Given the description of an element on the screen output the (x, y) to click on. 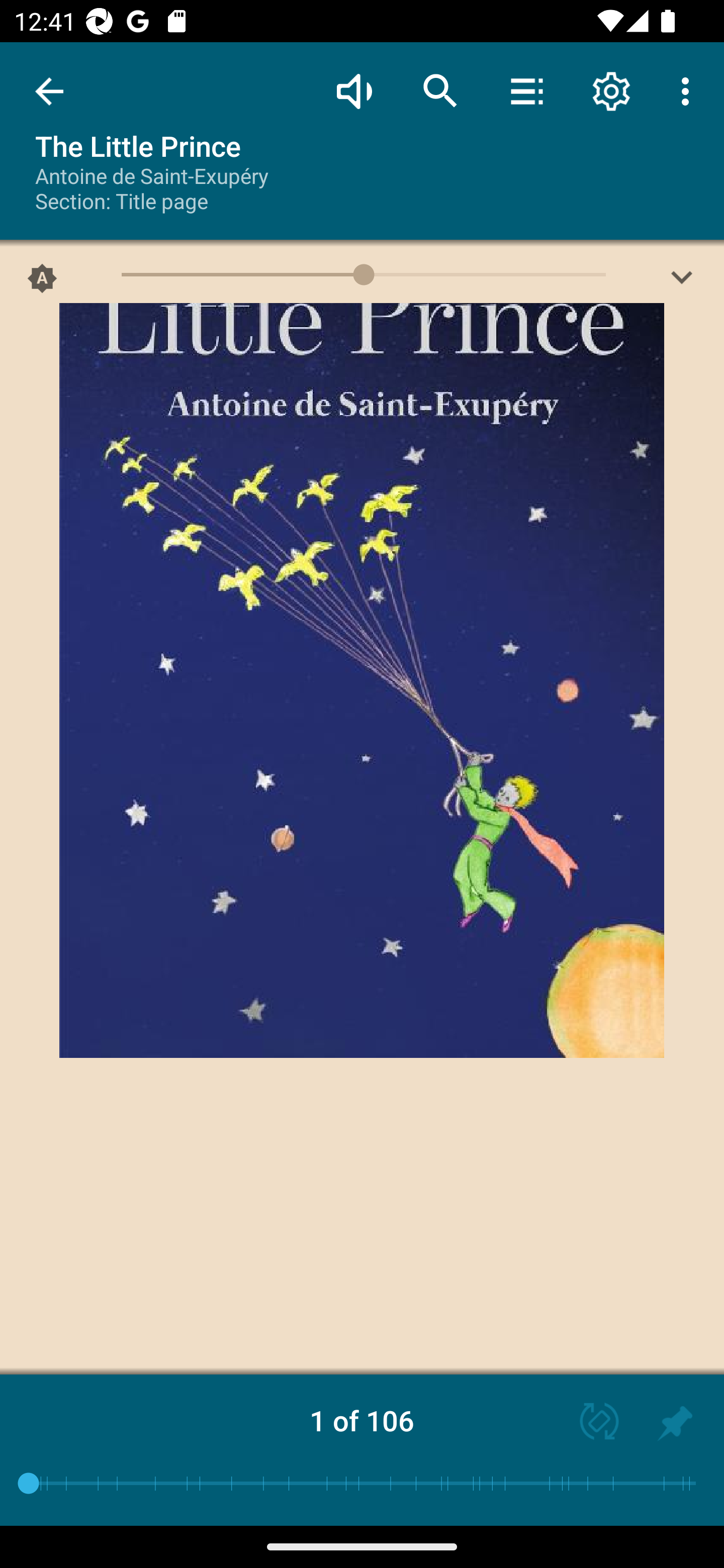
Exit reading (49, 91)
Read aloud (354, 90)
Text search (440, 90)
Contents / Bookmarks / Quotes (526, 90)
Reading settings (611, 90)
More options (688, 90)
Selected screen brightness (42, 281)
Screen brightness settings (681, 281)
1 of 106 (361, 1420)
Screen orientation (590, 1423)
Add to history (674, 1423)
